Given the description of an element on the screen output the (x, y) to click on. 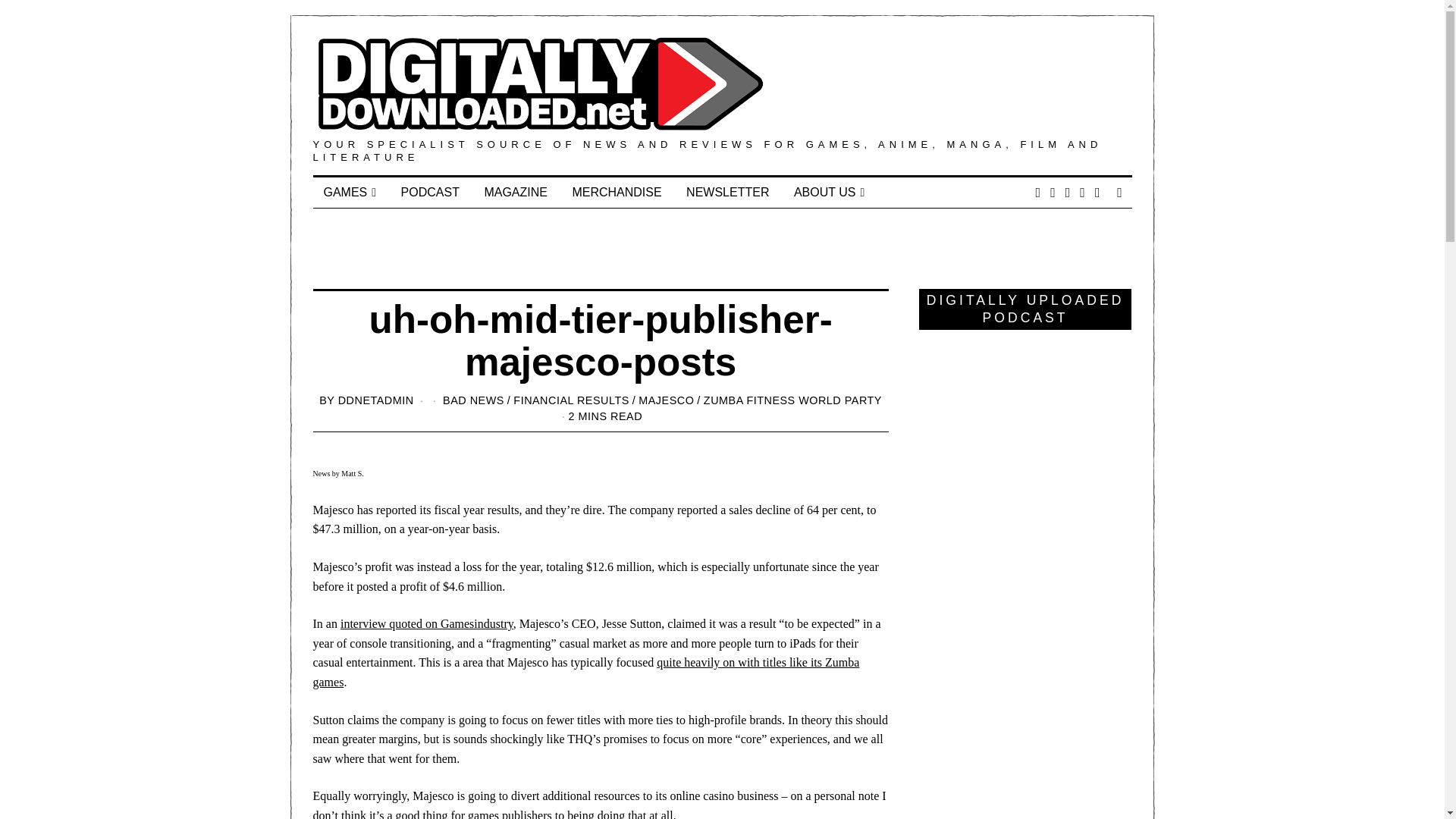
BAD NEWS (472, 399)
GAMES (350, 192)
DDNETADMIN (375, 399)
PODCAST (430, 192)
interview quoted on Gamesindustry (426, 623)
FINANCIAL RESULTS (570, 399)
MAJESCO (666, 399)
NEWSLETTER (726, 192)
MERCHANDISE (615, 192)
quite heavily on with titles like its Zumba games (586, 672)
ABOUT US (829, 192)
MAGAZINE (515, 192)
ZUMBA FITNESS WORLD PARTY (792, 399)
